Given the description of an element on the screen output the (x, y) to click on. 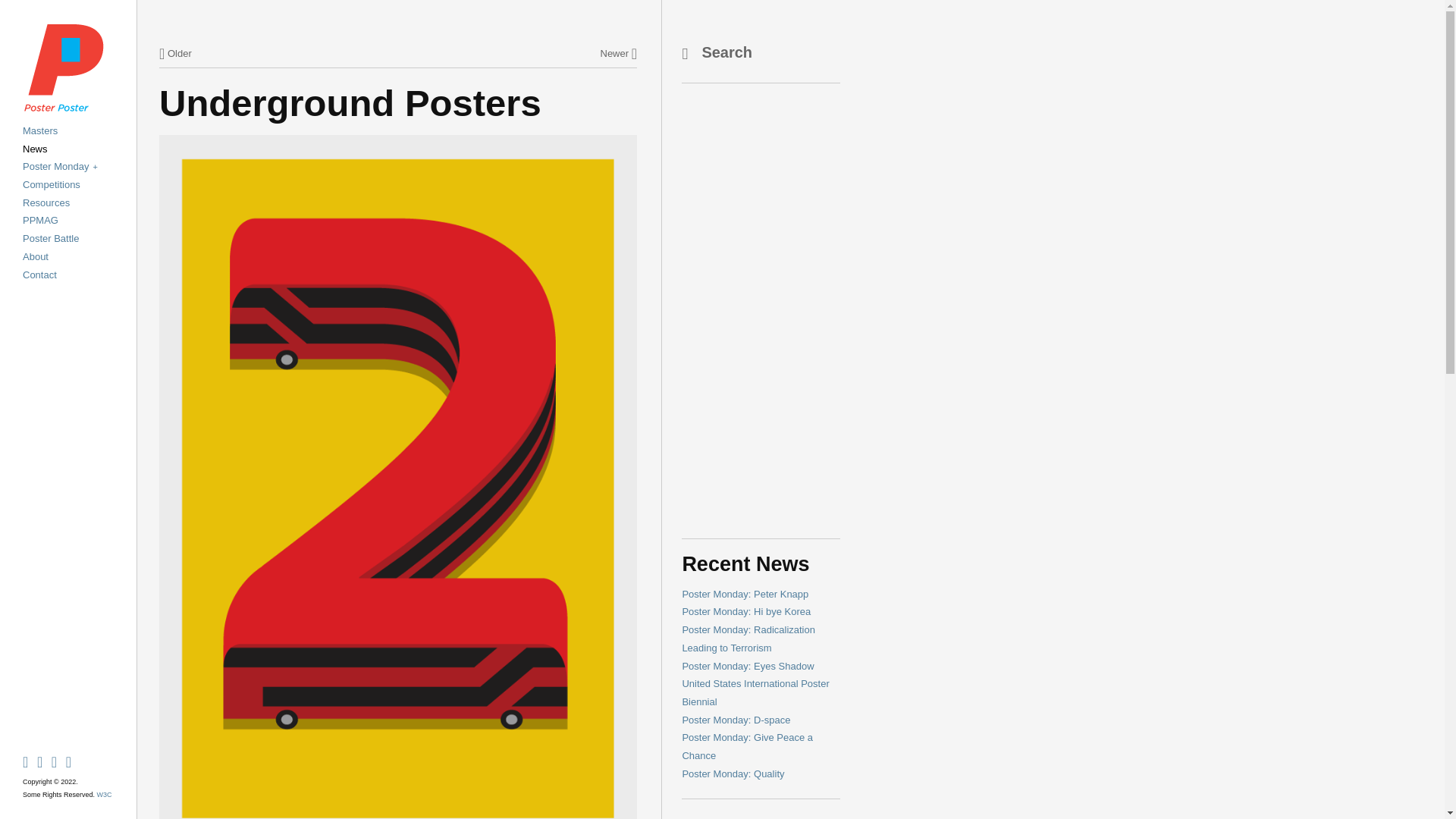
Search (756, 53)
Masters (40, 130)
About (35, 256)
Competitions (51, 184)
News (35, 148)
Resources (46, 202)
Newer (618, 52)
Contact (39, 274)
Underground Posters (349, 102)
Poster Battle (50, 238)
PPMAG (40, 220)
Poster Monday (60, 165)
Permanent Link to Underground Posters (349, 102)
Older (175, 52)
W3C (104, 794)
